Given the description of an element on the screen output the (x, y) to click on. 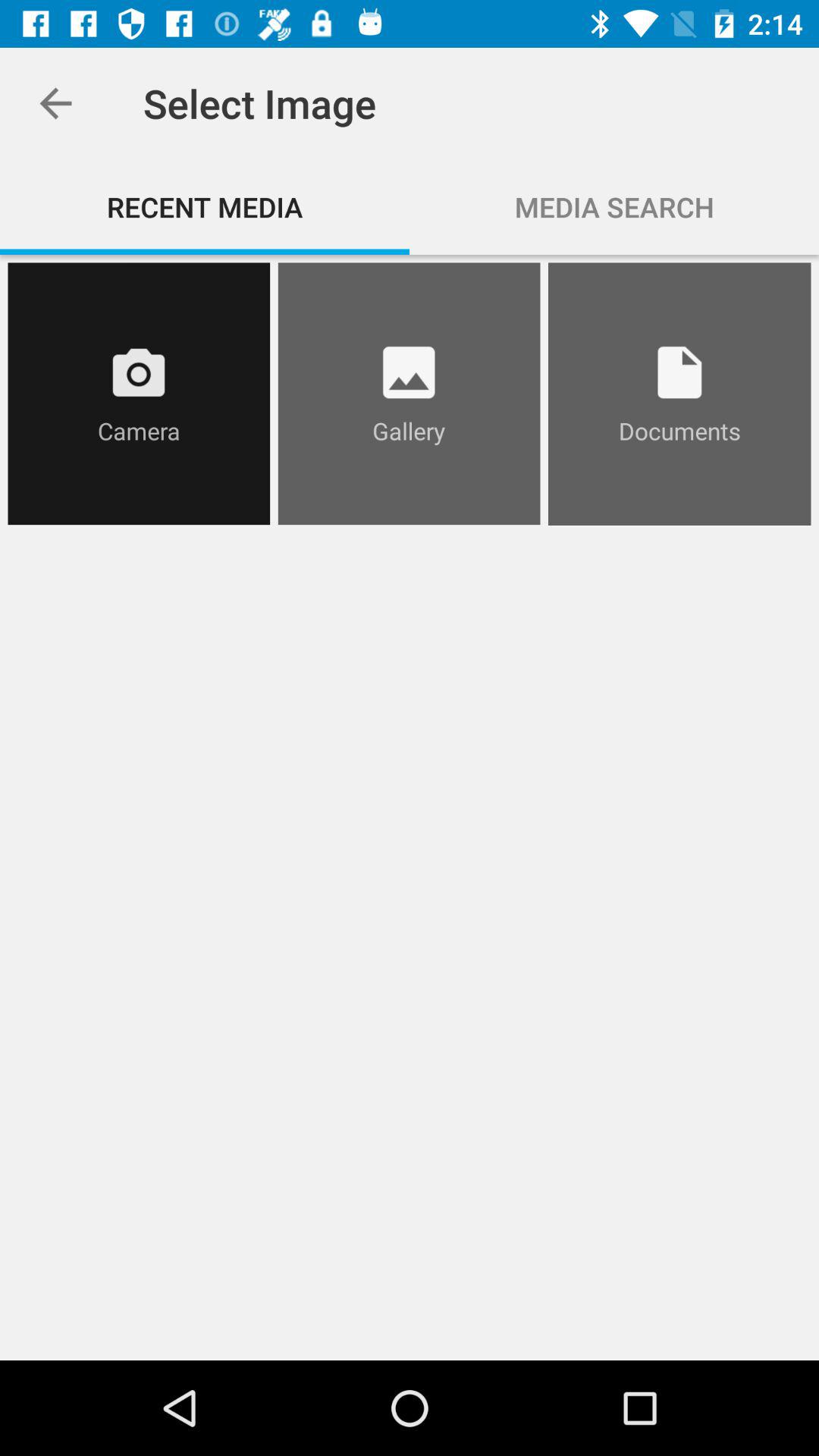
flip to the media search (614, 206)
